Given the description of an element on the screen output the (x, y) to click on. 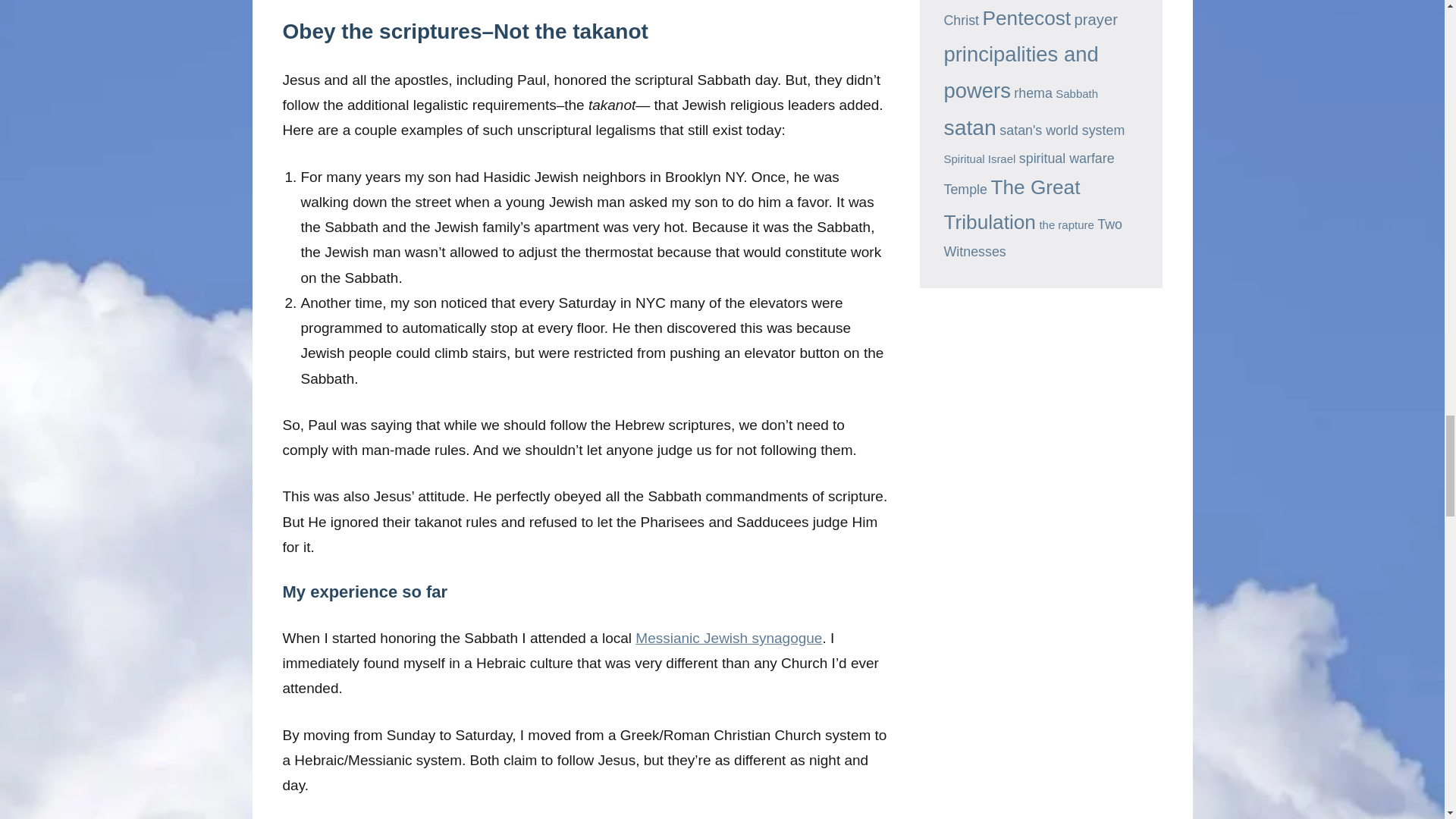
Messianic Jewish synagogue (728, 637)
